Given the description of an element on the screen output the (x, y) to click on. 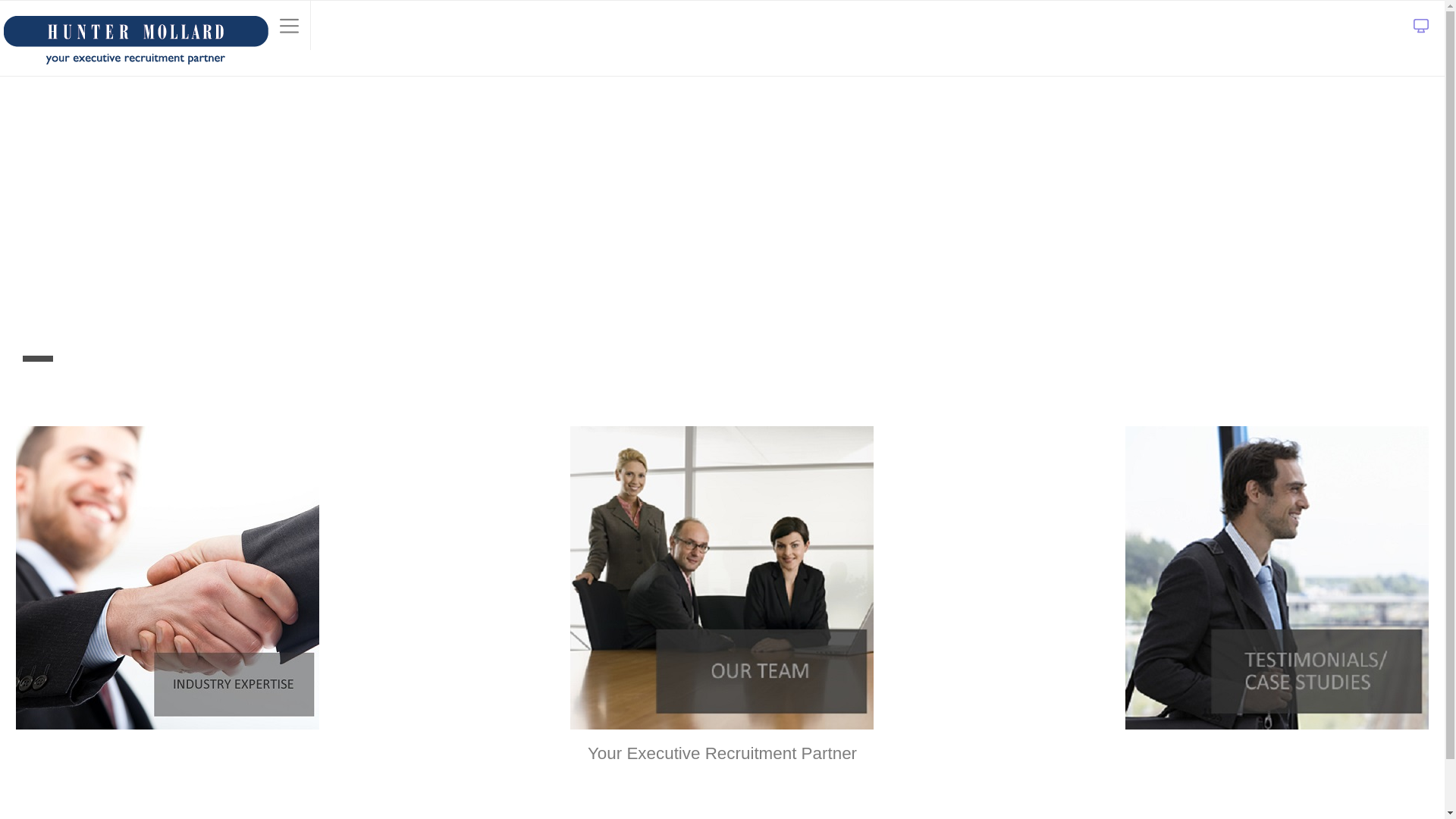
Our Team Element type: hover (722, 577)
Your Executive Recruitment Partner Element type: hover (134, 36)
